Given the description of an element on the screen output the (x, y) to click on. 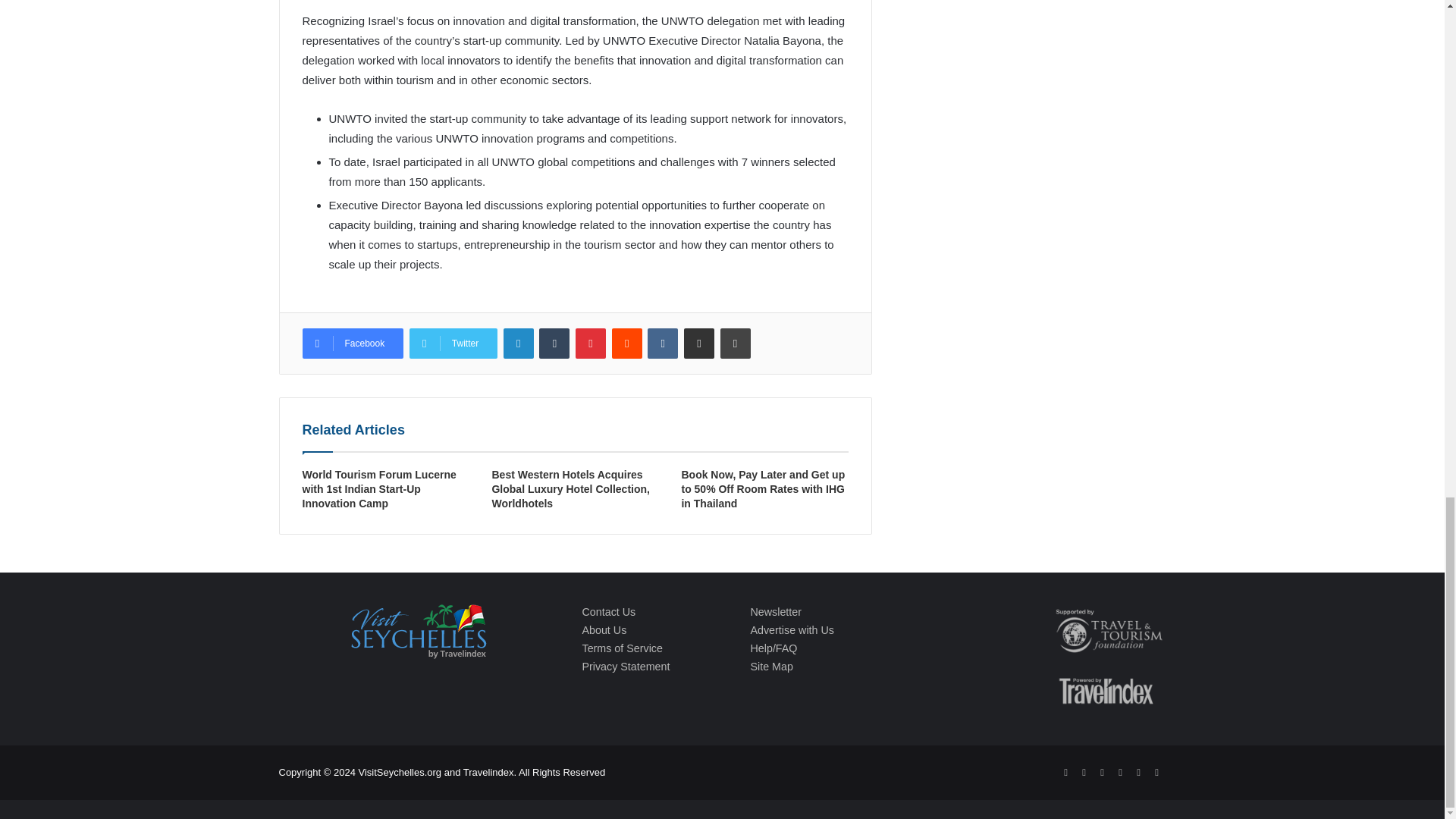
Tumblr (553, 343)
VKontakte (662, 343)
Share via Email (699, 343)
VKontakte (662, 343)
LinkedIn (518, 343)
Reddit (626, 343)
LinkedIn (518, 343)
Facebook (352, 343)
Facebook (352, 343)
Pinterest (590, 343)
